Given the description of an element on the screen output the (x, y) to click on. 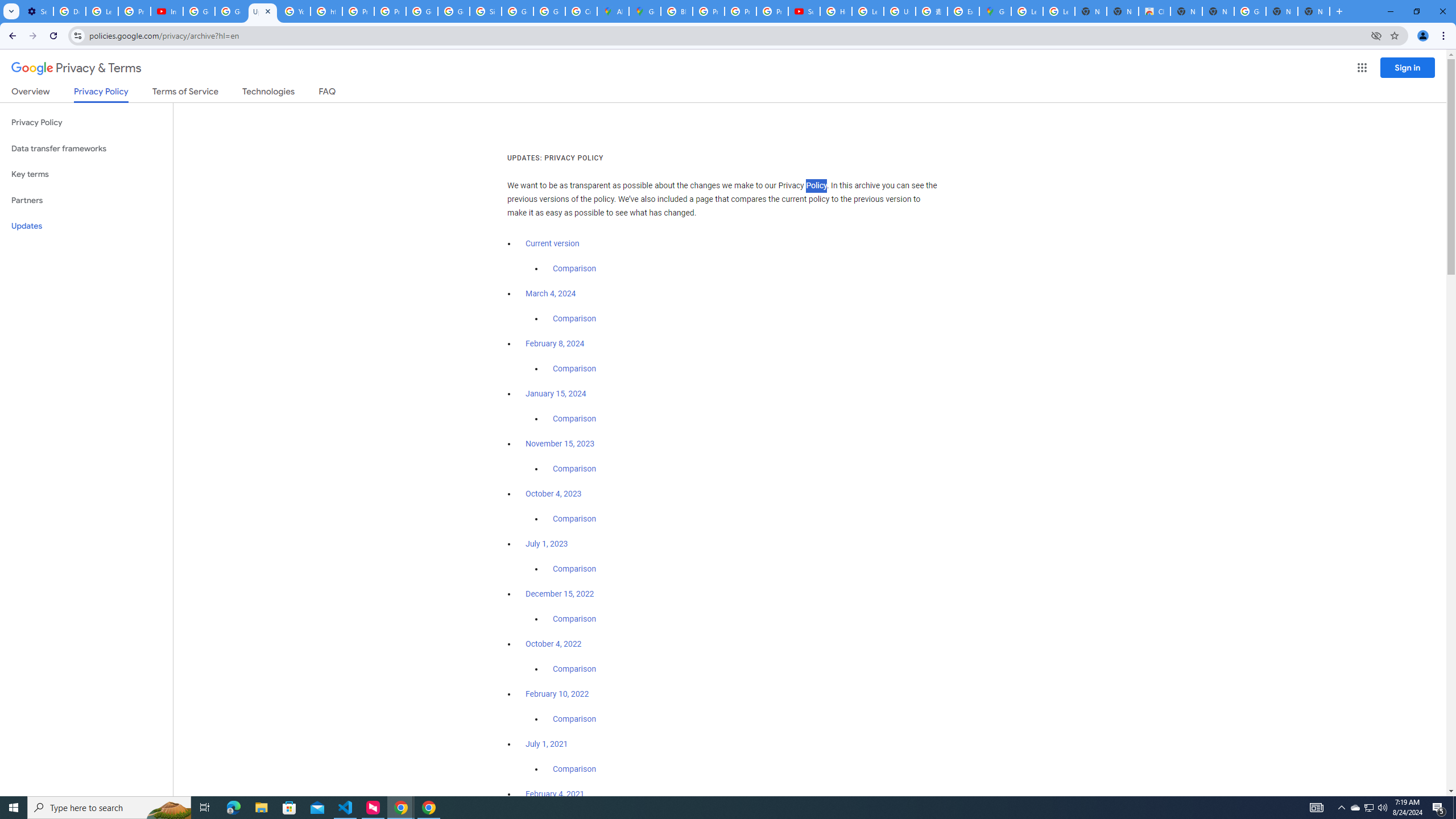
February 4, 2021 (555, 793)
Google Images (1249, 11)
Data transfer frameworks (86, 148)
Current version (552, 243)
Settings - Customize profile (37, 11)
Sign in - Google Accounts (485, 11)
Google Maps (995, 11)
